Given the description of an element on the screen output the (x, y) to click on. 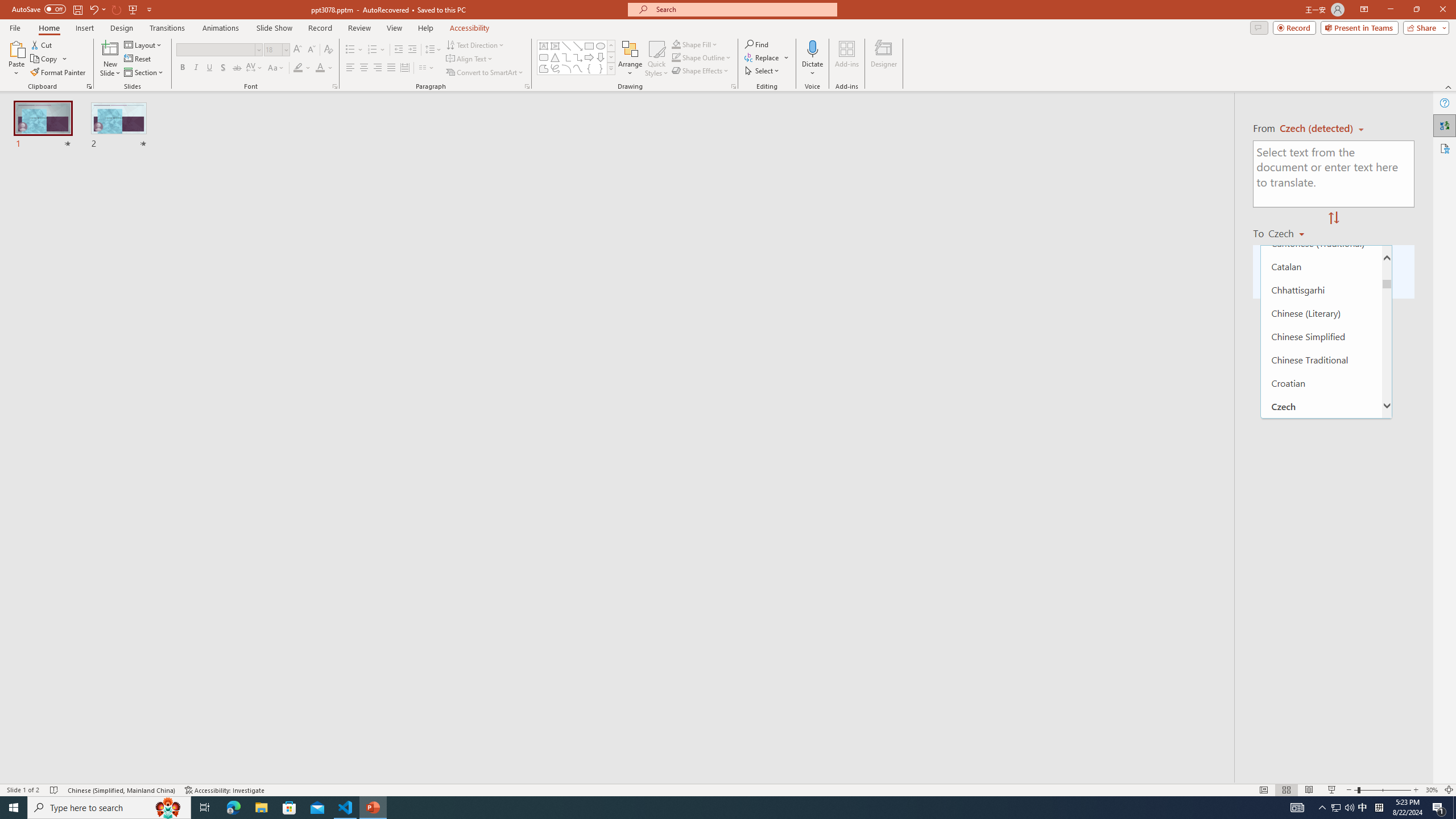
Danish (1320, 428)
French (1320, 685)
Czech (1320, 405)
